Given the description of an element on the screen output the (x, y) to click on. 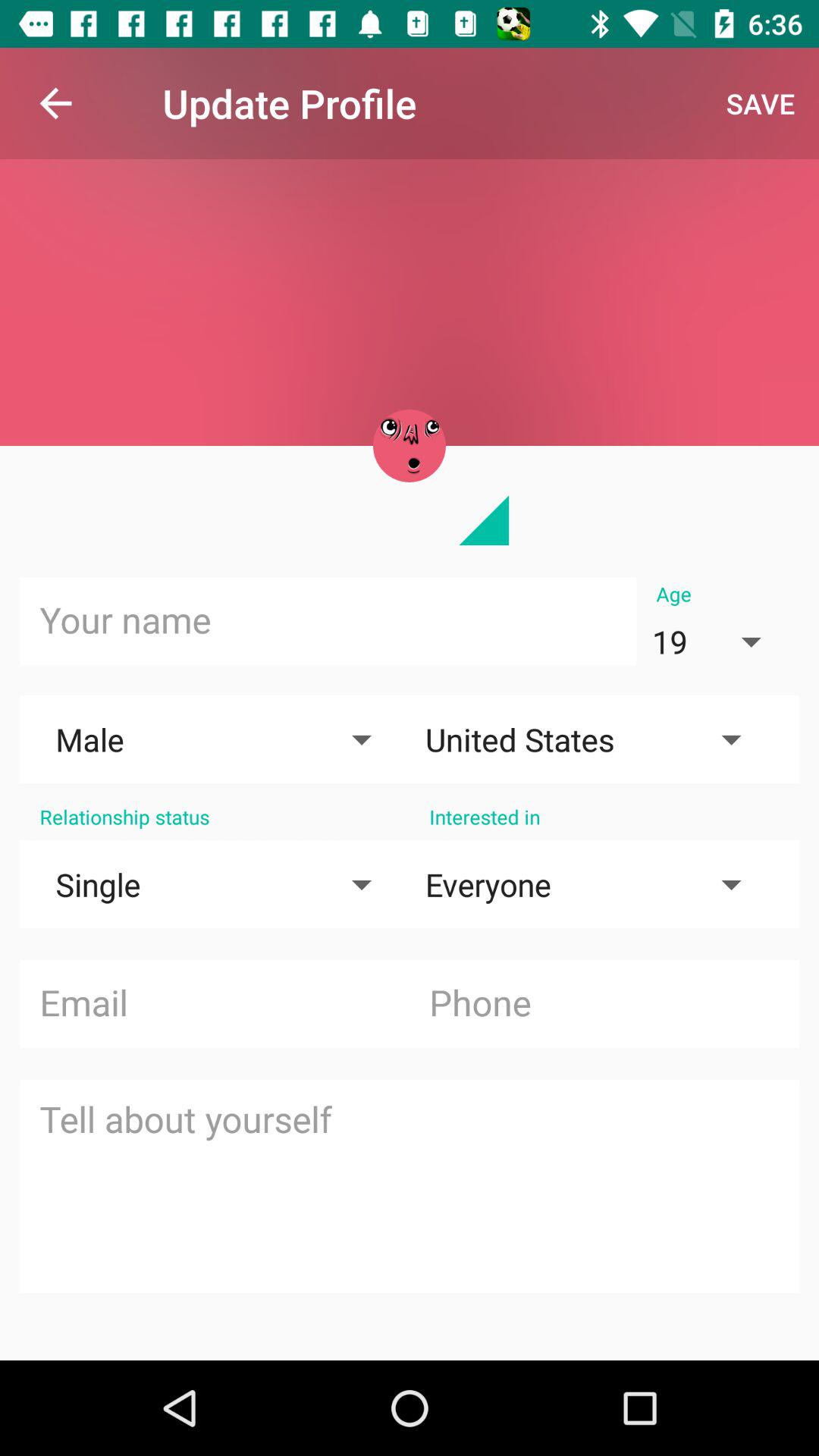
update profile image (409, 445)
